Given the description of an element on the screen output the (x, y) to click on. 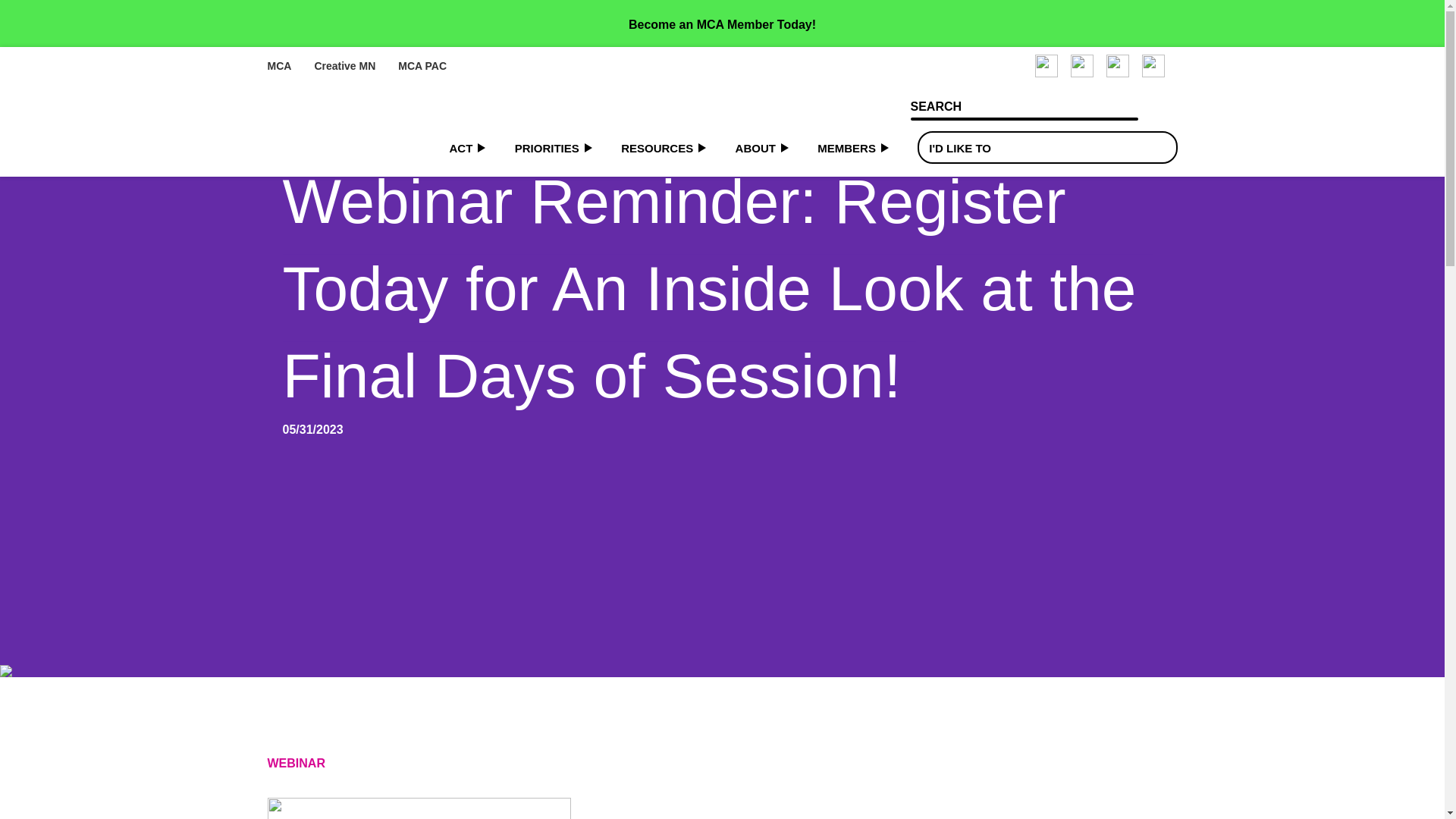
MCA PAC (421, 65)
Twitter (1152, 65)
Become an MCA Member Today! (721, 24)
YouTube (1116, 65)
Facebook (1045, 65)
MCA (278, 65)
ABOUT (762, 147)
PRIORITIES (553, 147)
Twitter (1152, 65)
Facebook (1045, 65)
